Given the description of an element on the screen output the (x, y) to click on. 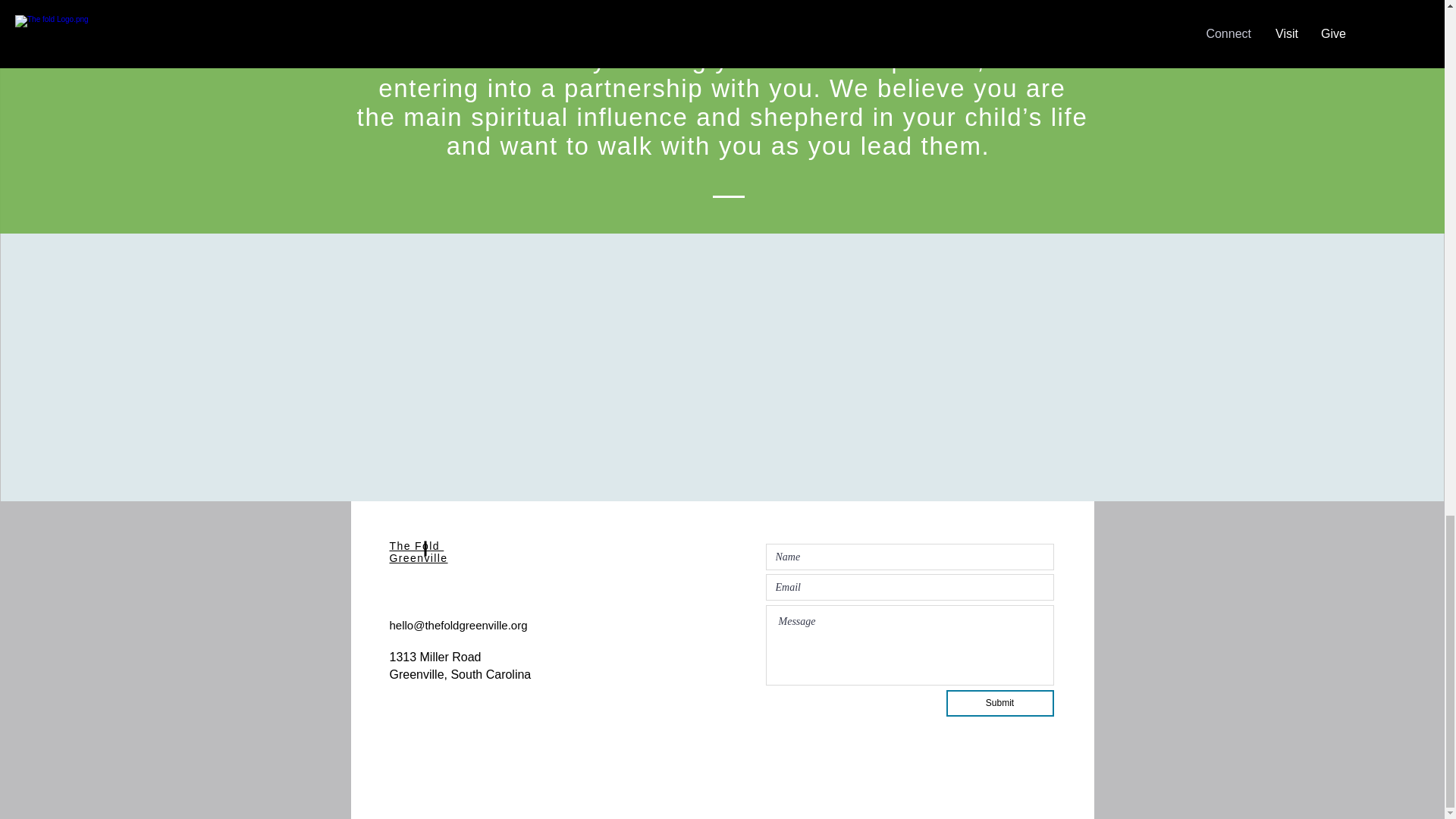
Submit (1000, 703)
